Given the description of an element on the screen output the (x, y) to click on. 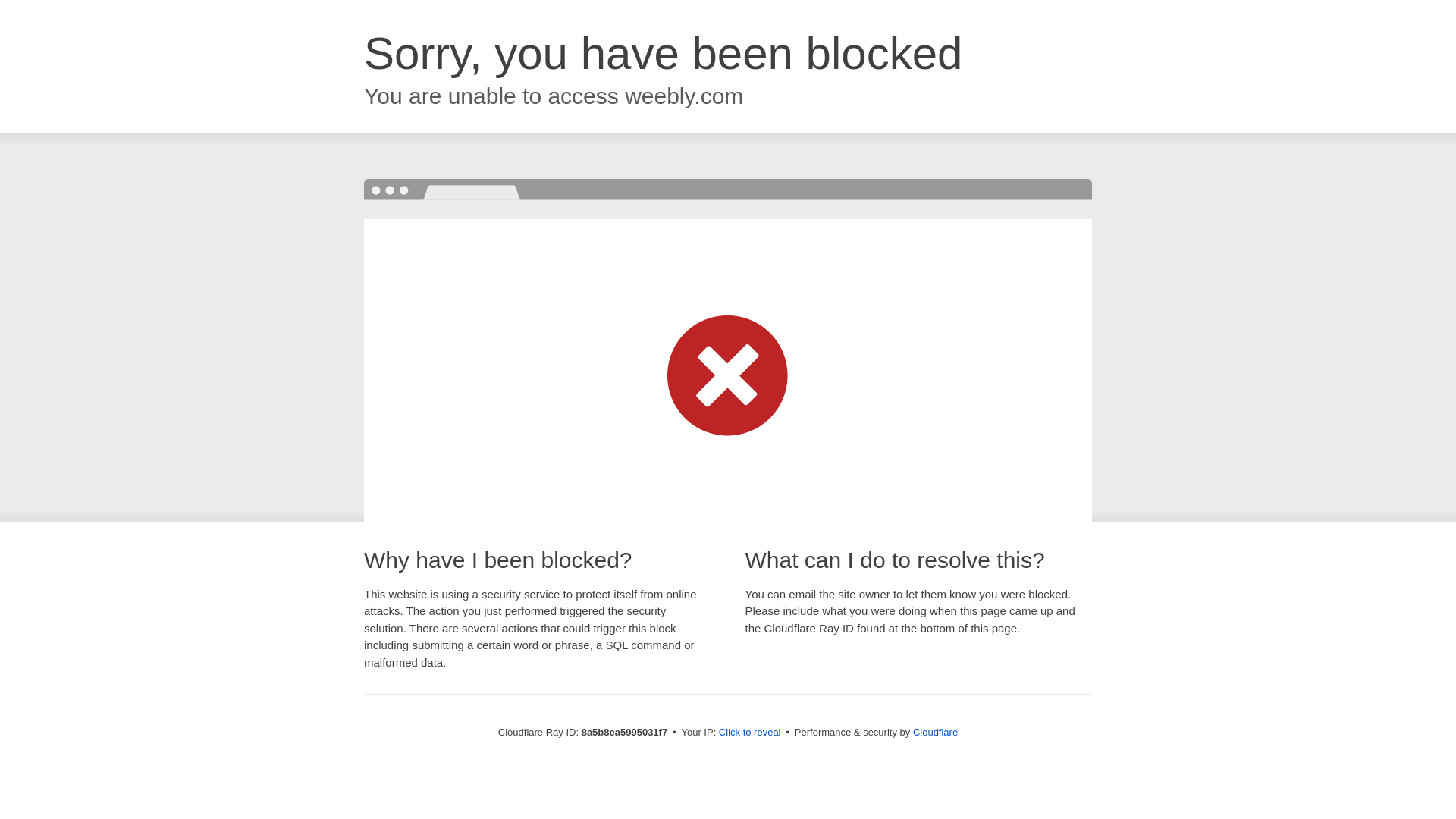
Click to reveal (749, 732)
Cloudflare (935, 731)
